Given the description of an element on the screen output the (x, y) to click on. 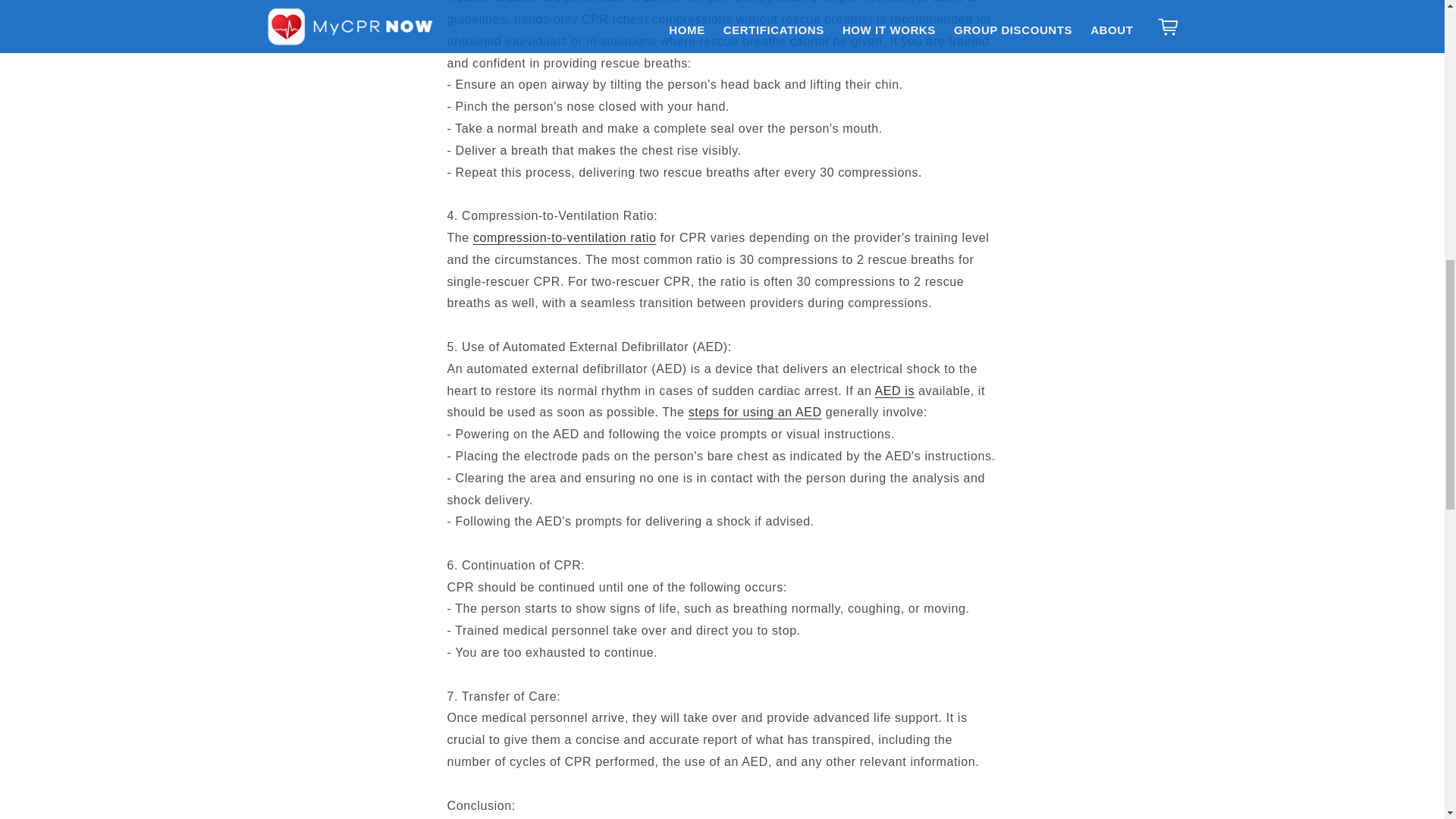
steps for using an AED (755, 411)
AED is (895, 390)
What Is An AED and Where Are They Found?  (895, 390)
How to Use an AED: A Step-by-Step Guide  (755, 411)
First Aid Certification (564, 237)
compression-to-ventilation ratio (564, 237)
